Given the description of an element on the screen output the (x, y) to click on. 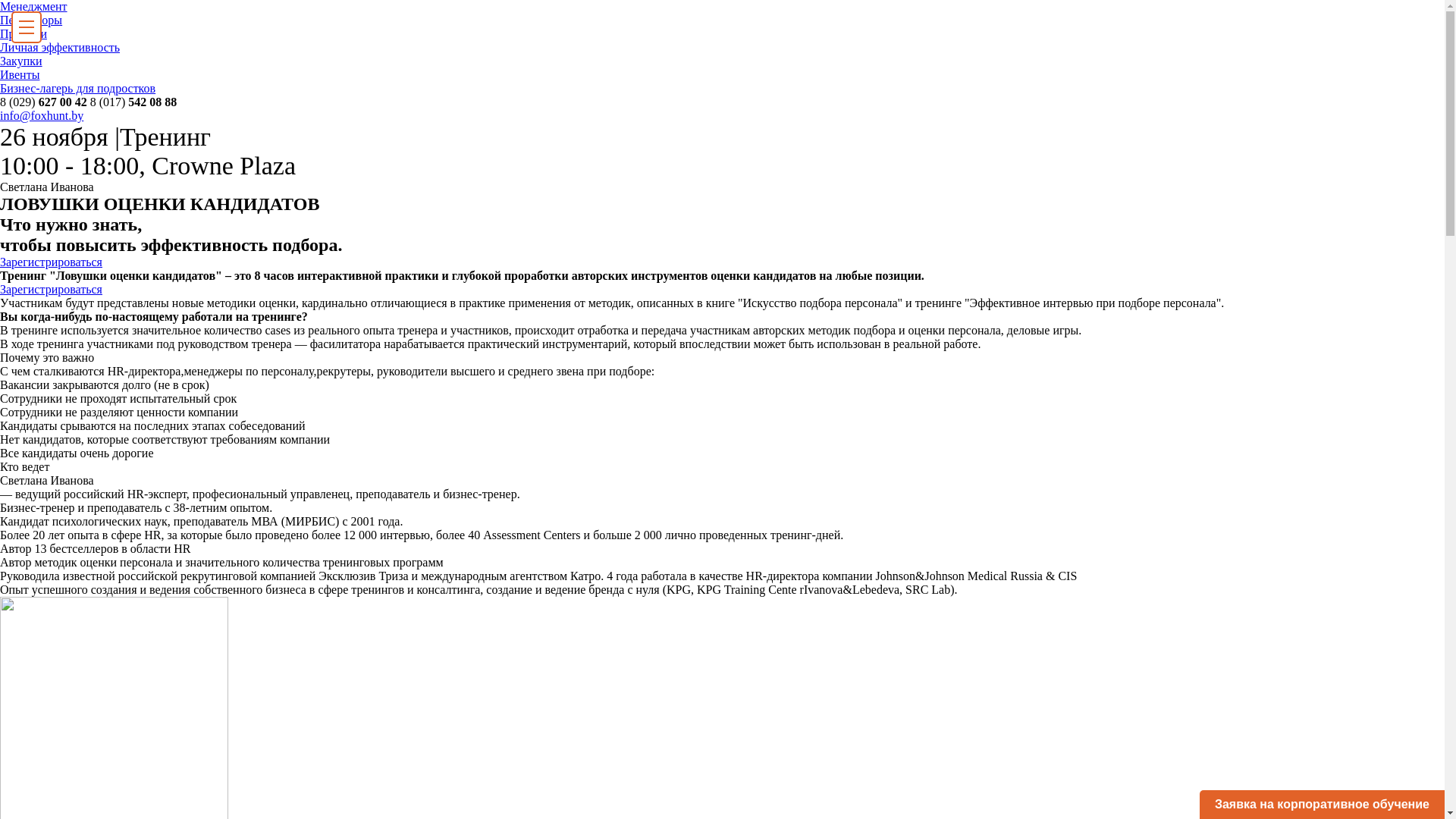
info@foxhunt.by Element type: text (41, 115)
